Given the description of an element on the screen output the (x, y) to click on. 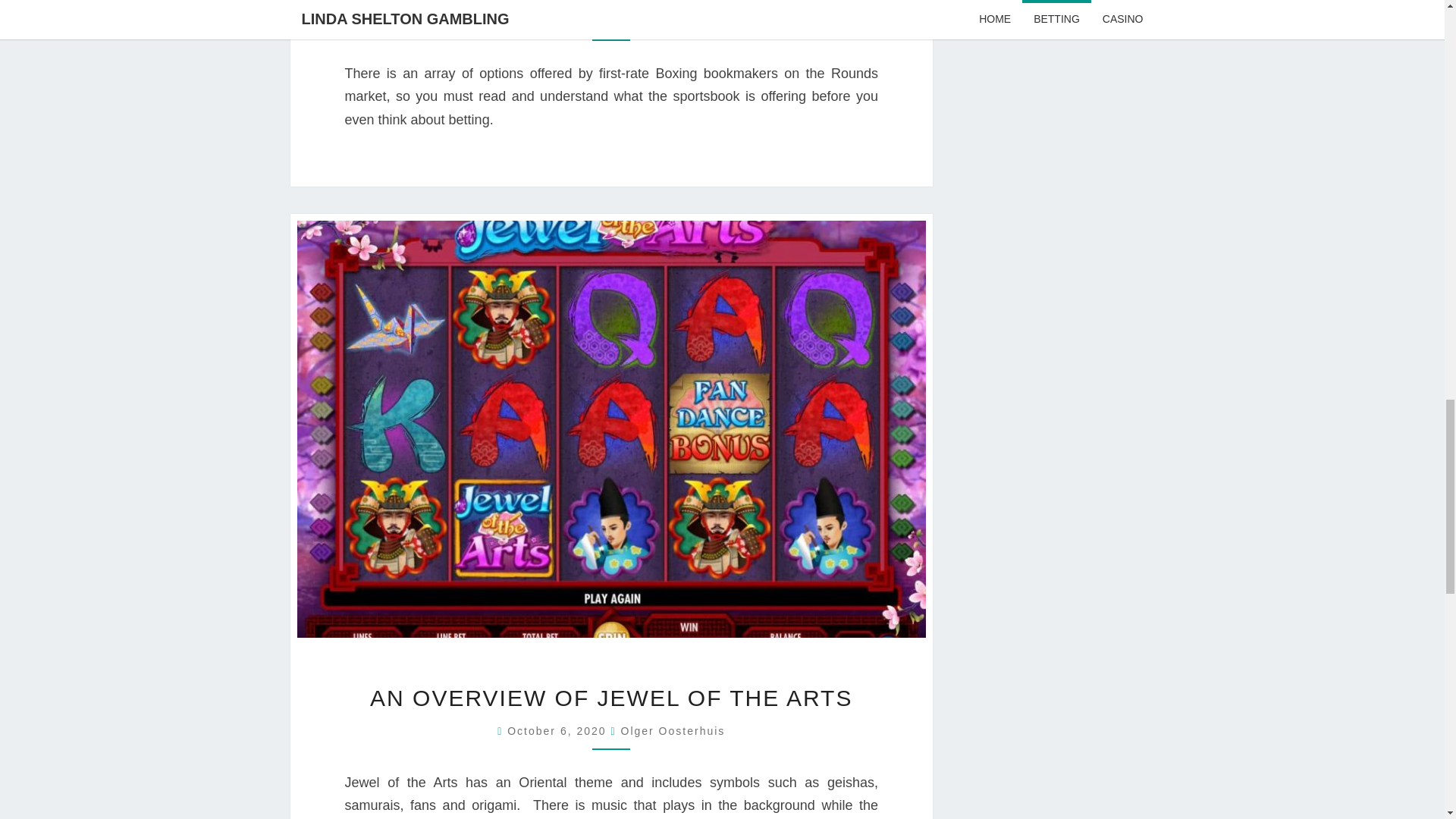
7:00 am (558, 730)
View all posts by Olger Oosterhuis (672, 730)
August 17, 2022 (558, 21)
Olger Oosterhuis (672, 730)
Olger Oosterhuis (673, 21)
8:38 am (558, 21)
AN OVERVIEW OF JEWEL OF THE ARTS (610, 697)
View all posts by Olger Oosterhuis (673, 21)
October 6, 2020 (558, 730)
